Given the description of an element on the screen output the (x, y) to click on. 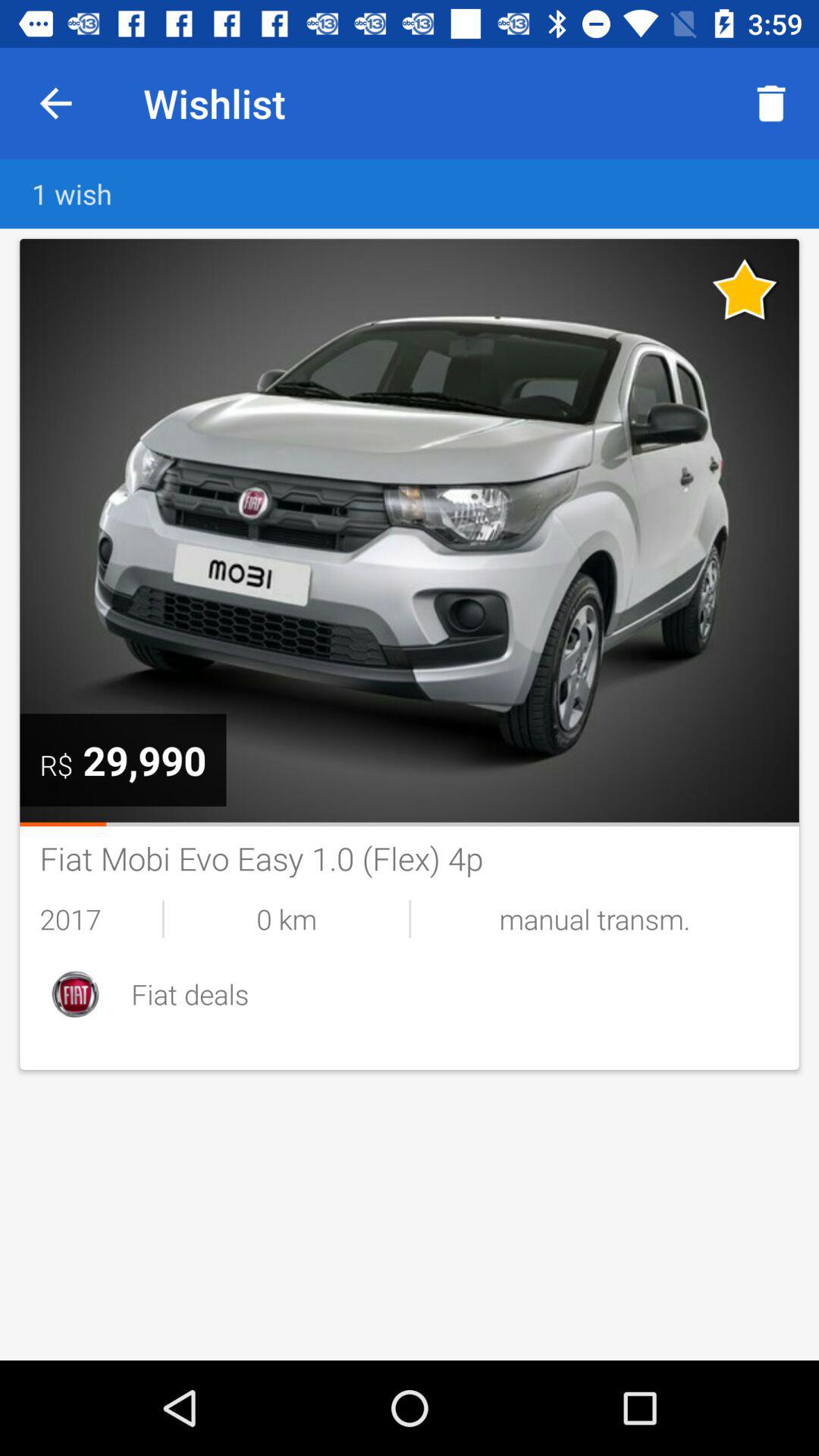
open item above the fiat mobi evo (409, 824)
